Given the description of an element on the screen output the (x, y) to click on. 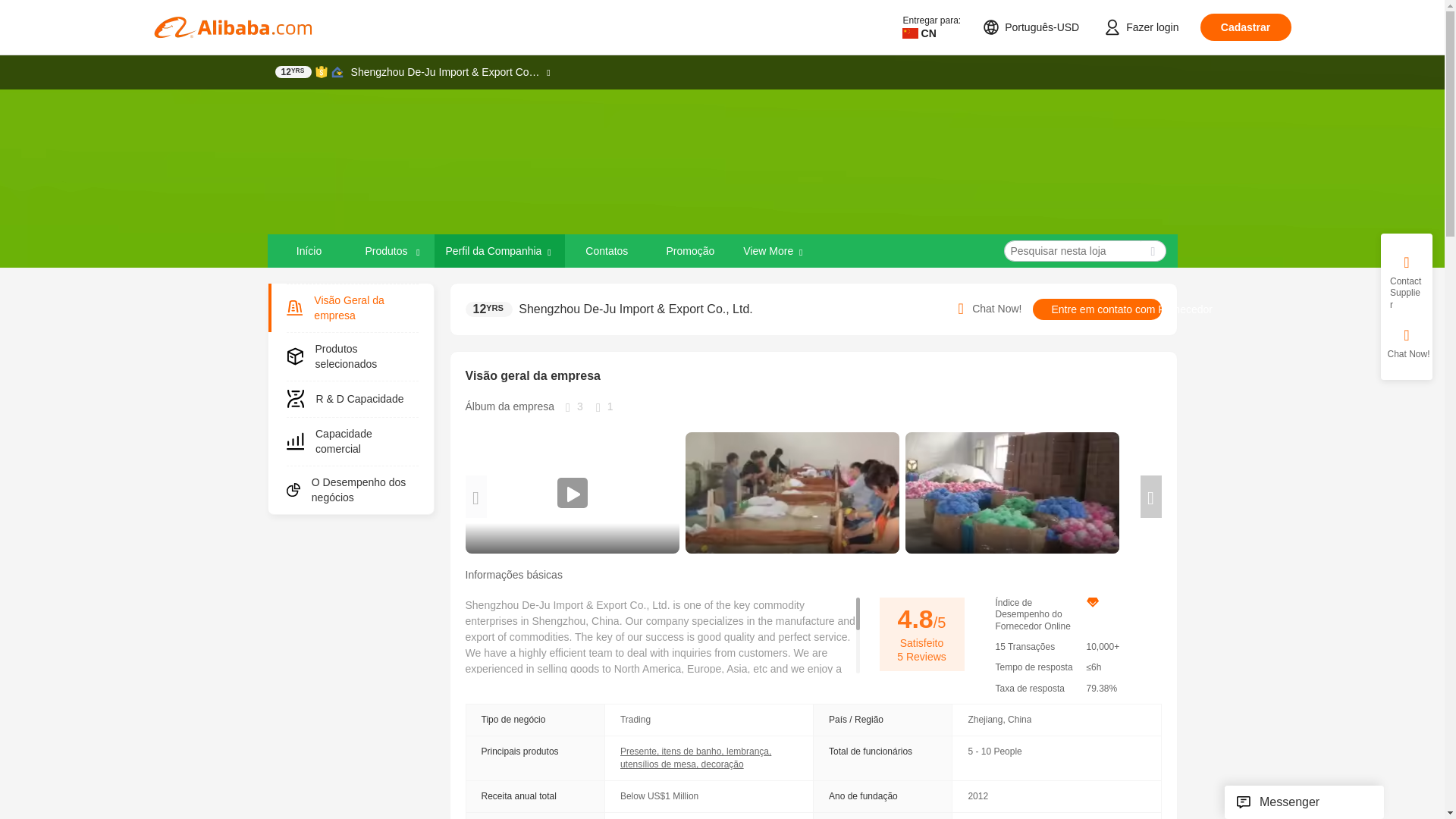
Contatos (605, 250)
Produtos (391, 250)
View More (774, 250)
Chat Now! (987, 309)
What is Gold Supplier? (293, 71)
12YRS (293, 71)
Perfil da Companhia (498, 250)
Entre em contato com Fornecedor (1096, 309)
Produtos (386, 250)
Perfil da Companhia (493, 250)
12YRS (489, 309)
